Given the description of an element on the screen output the (x, y) to click on. 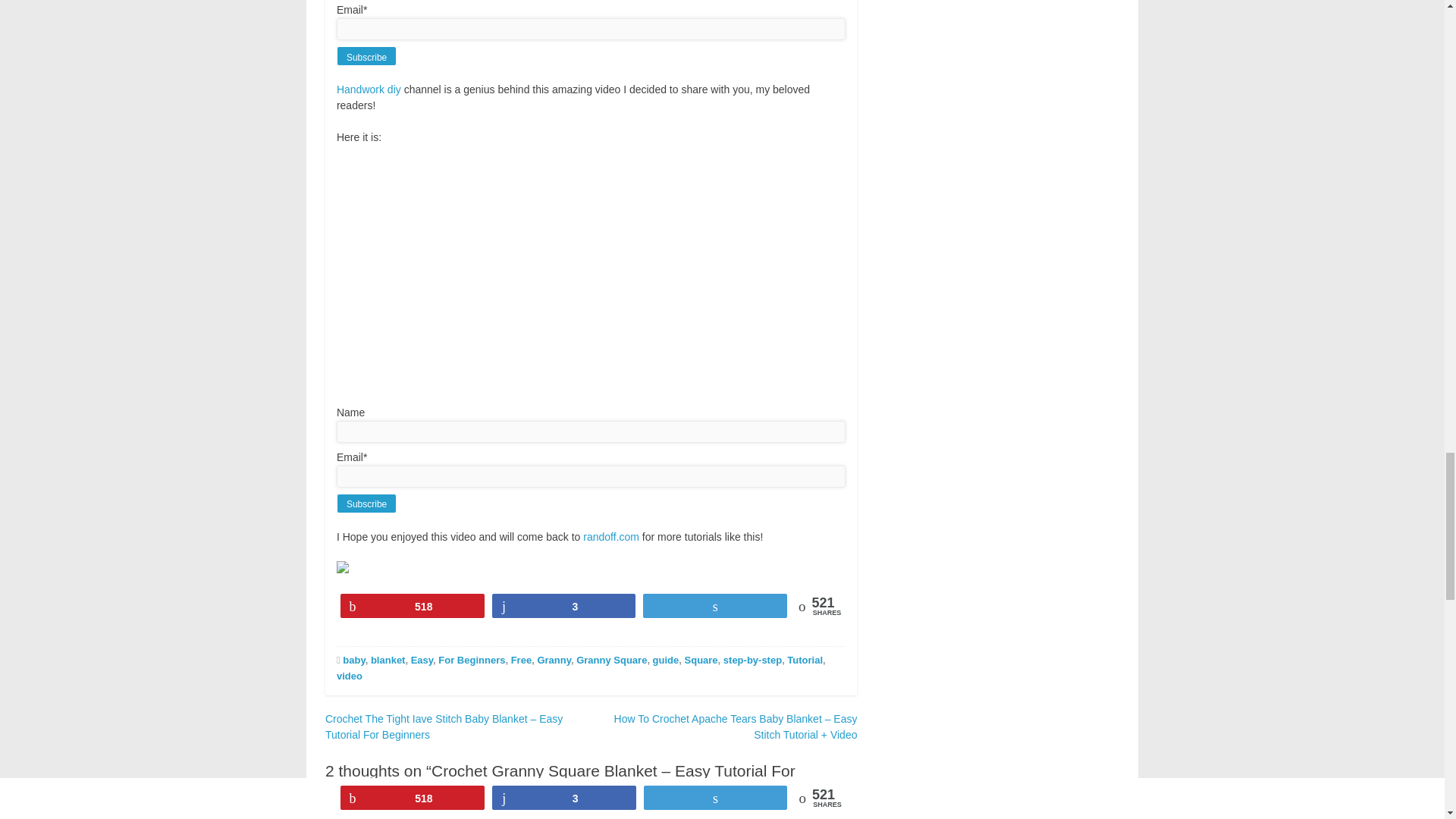
Subscribe (366, 55)
Tutorial (804, 659)
Subscribe (366, 55)
Subscribe (366, 503)
Advertisement (999, 49)
For Beginners (471, 659)
Granny (553, 659)
518 (411, 605)
randoff.com (611, 536)
3 (563, 605)
Free (521, 659)
step-by-step (752, 659)
Square (700, 659)
Subscribe (366, 503)
Granny Square (611, 659)
